Given the description of an element on the screen output the (x, y) to click on. 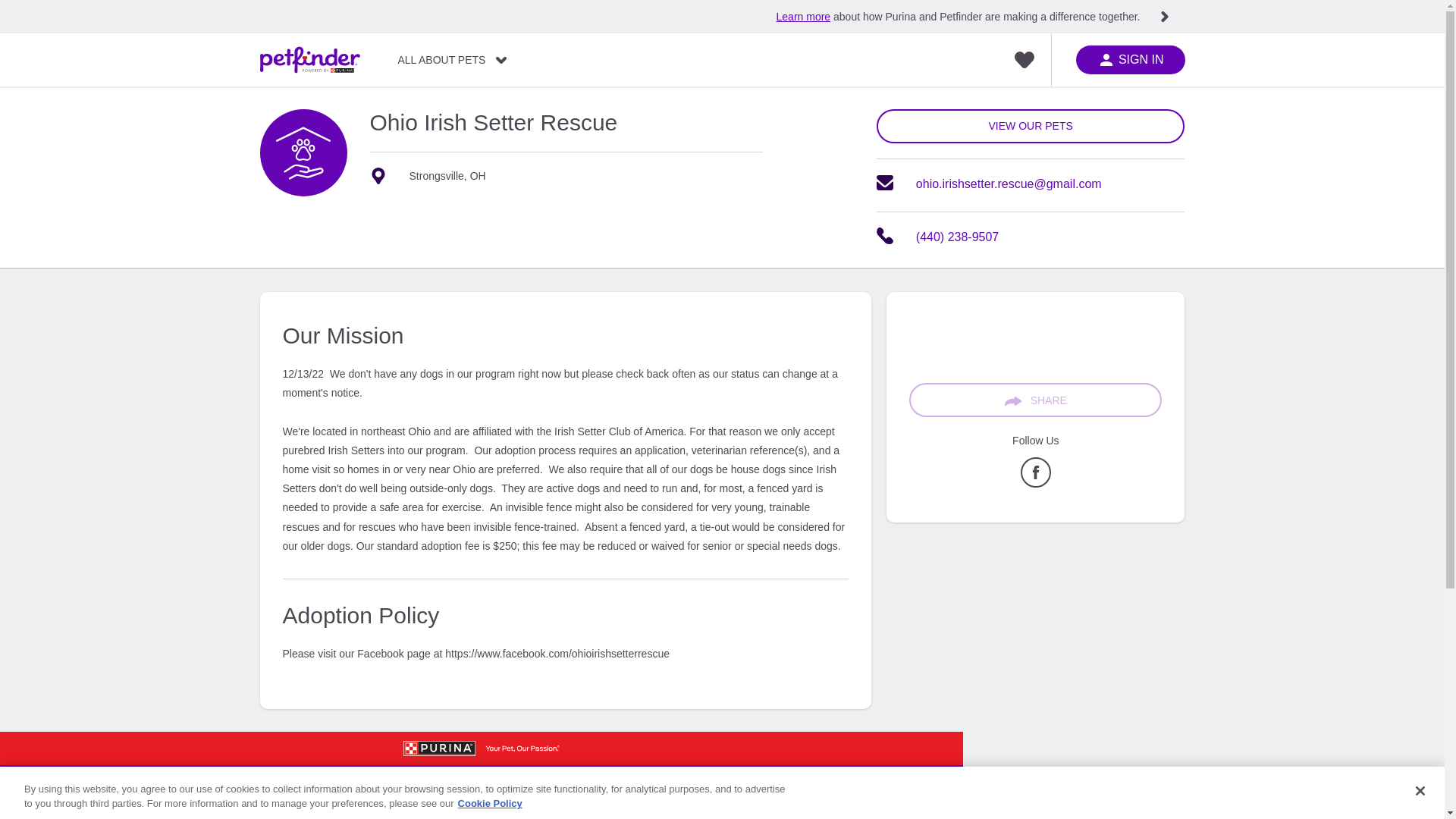
Favorites (1024, 59)
SIGN IN (1130, 59)
Follow Us on Facebook (1035, 483)
ALL ABOUT PETS (451, 60)
Petfinder Logo (85, 807)
Favorites (1024, 59)
